Given the description of an element on the screen output the (x, y) to click on. 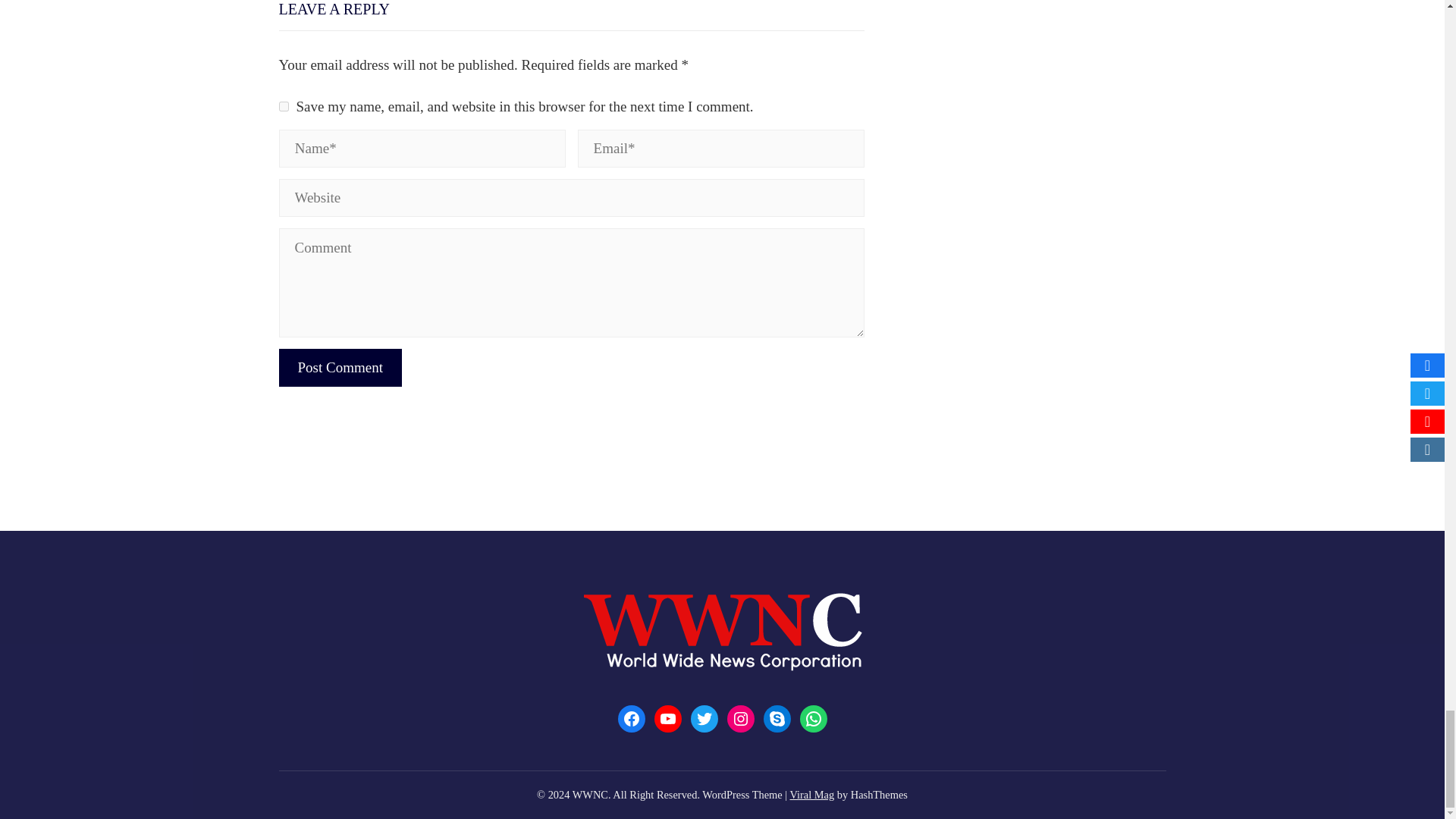
Download Viral News (811, 794)
Post Comment (340, 367)
yes (283, 106)
Post Comment (340, 367)
